Given the description of an element on the screen output the (x, y) to click on. 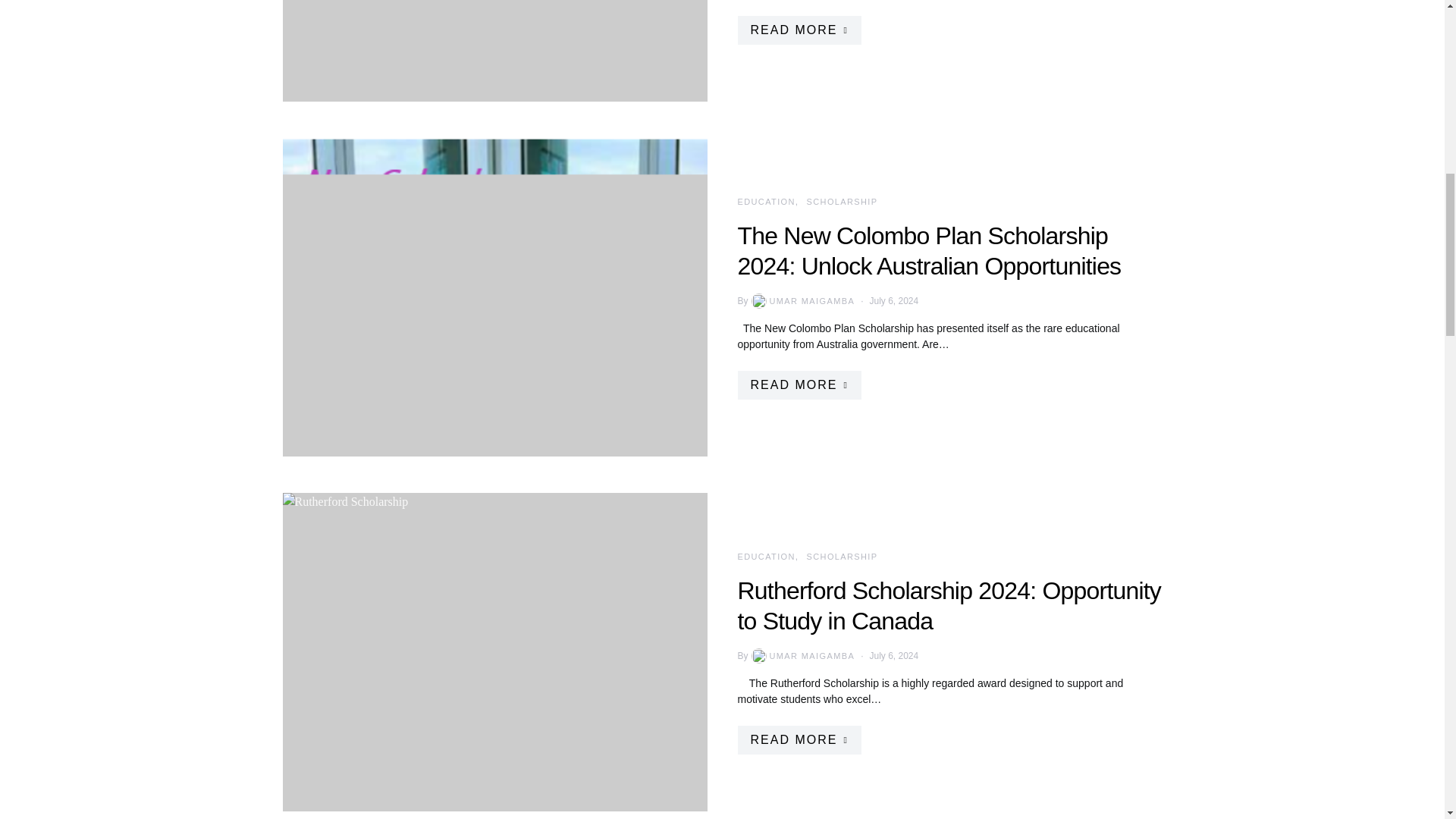
EDUCATION (765, 556)
EDUCATION (765, 201)
SCHOLARSHIP (841, 556)
UMAR MAIGAMBA (802, 655)
READ MORE (798, 30)
SCHOLARSHIP (841, 201)
View all posts by Umar Maigamba (802, 655)
View all posts by Umar Maigamba (802, 300)
READ MORE (798, 739)
UMAR MAIGAMBA (802, 300)
Rutherford Scholarship 2024: Opportunity to Study in Canada (948, 605)
READ MORE (798, 385)
